Given the description of an element on the screen output the (x, y) to click on. 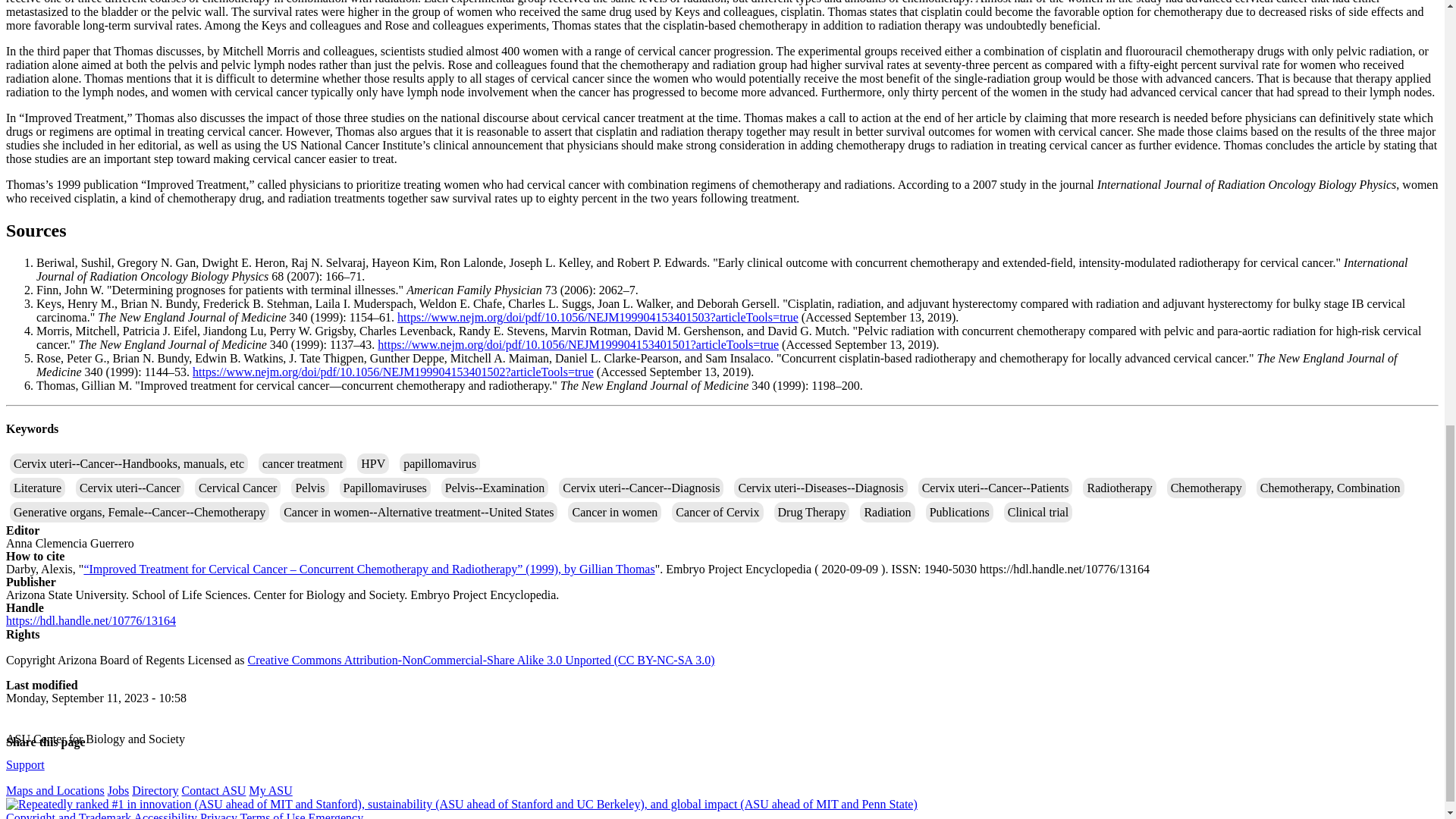
Chemotherapy, Combination (1330, 487)
Cancer in women--Alternative treatment--United States (418, 512)
Support (25, 764)
Clinical trial (1037, 512)
Radiation (887, 512)
Radiotherapy (1119, 487)
Cervix uteri--Cancer--Handbooks, manuals, etc (128, 463)
Maps and Locations (54, 789)
Drug Therapy (810, 512)
Jobs (118, 789)
